Given the description of an element on the screen output the (x, y) to click on. 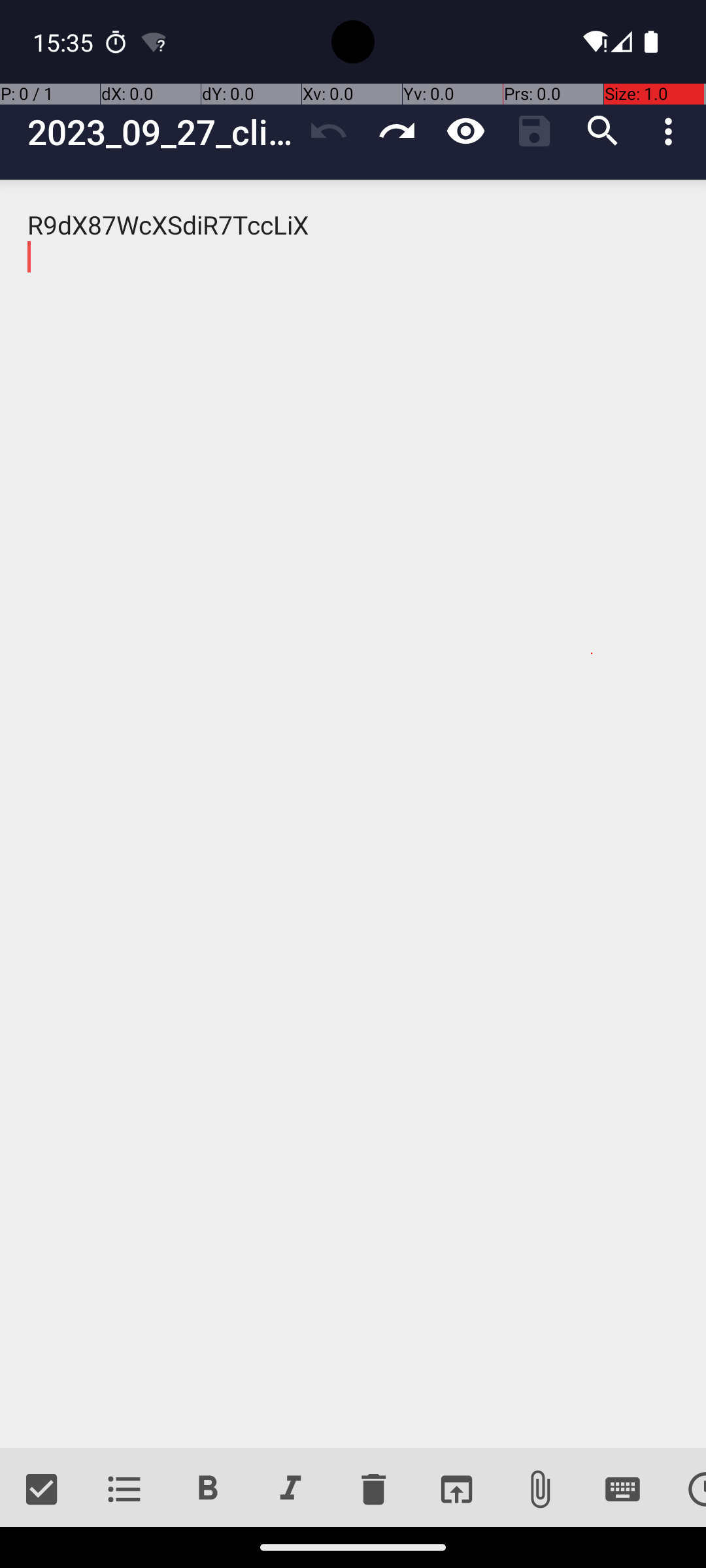
2023_09_27_client_meetings_schedule Element type: android.widget.TextView (160, 131)
Undo Element type: android.widget.TextView (328, 131)
Redo Element type: android.widget.TextView (396, 131)
View mode Element type: android.widget.TextView (465, 131)
R9dX87WcXSdiR7TccLiX
 Element type: android.widget.EditText (353, 813)
Check list Element type: android.widget.ImageView (41, 1488)
Unordered list Element type: android.widget.ImageView (124, 1488)
Bold Element type: android.widget.ImageView (207, 1488)
Italic Element type: android.widget.ImageView (290, 1488)
Delete lines Element type: android.widget.ImageView (373, 1488)
Open link Element type: android.widget.ImageView (456, 1488)
Attach Element type: android.widget.ImageView (539, 1488)
Special Key Element type: android.widget.ImageView (622, 1488)
Date and time Element type: android.widget.ImageView (685, 1488)
Android System notification: AndroidWifi has limited connectivity Element type: android.widget.ImageView (153, 41)
Wifi signal full.,No internet Element type: android.widget.FrameLayout (593, 41)
